Given the description of an element on the screen output the (x, y) to click on. 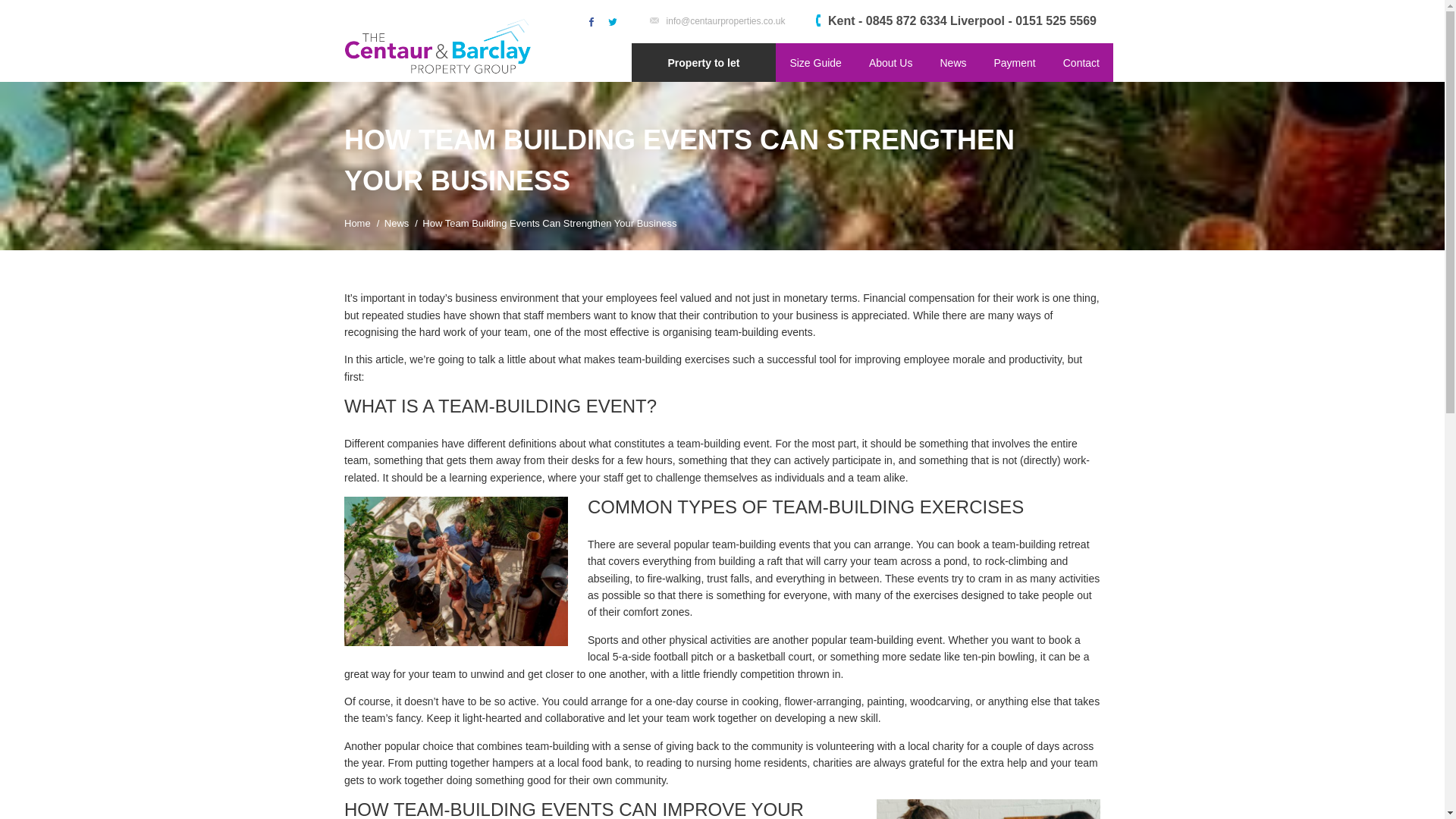
Home (357, 223)
Payment (1013, 62)
News (396, 223)
About Us (891, 62)
Property to let (702, 62)
News (952, 62)
Size Guide (815, 62)
Contact (1081, 62)
Kent - 0845 872 6334 Liverpool - 0151 525 5569 (955, 21)
